Given the description of an element on the screen output the (x, y) to click on. 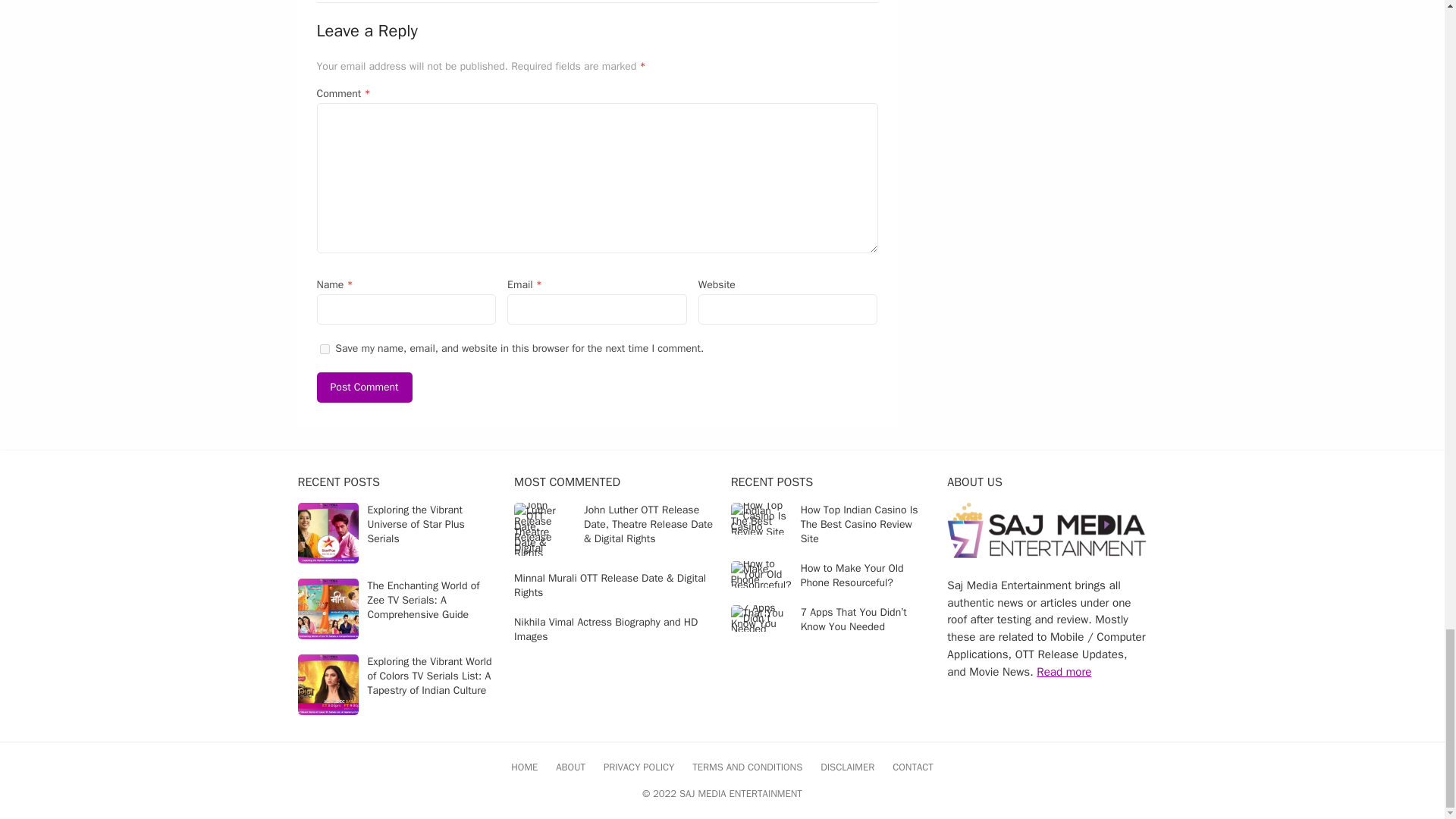
Post Comment (364, 387)
yes (325, 348)
